Given the description of an element on the screen output the (x, y) to click on. 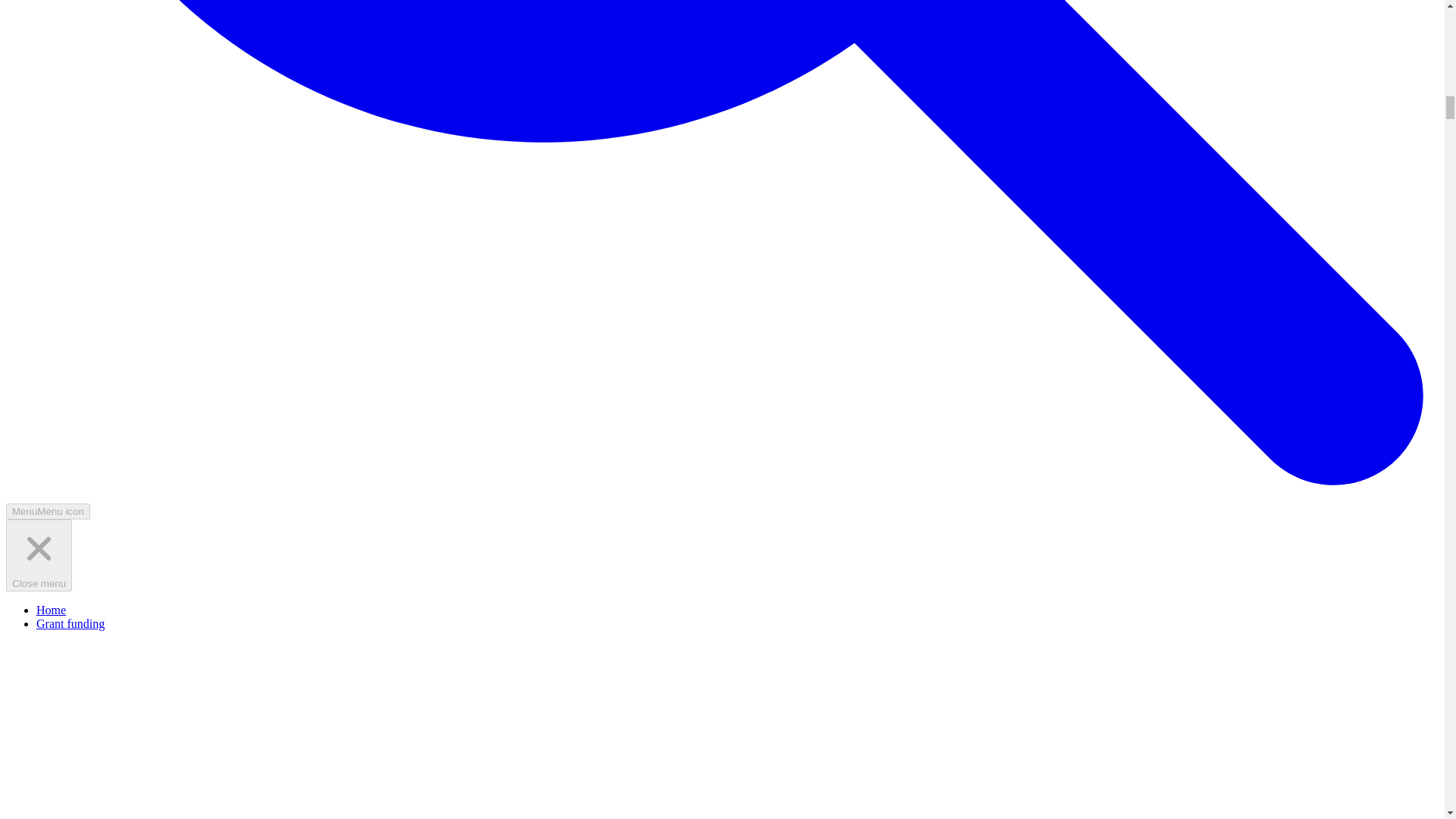
Close menu (38, 555)
Home (50, 609)
MenuMenu icon (47, 511)
